Given the description of an element on the screen output the (x, y) to click on. 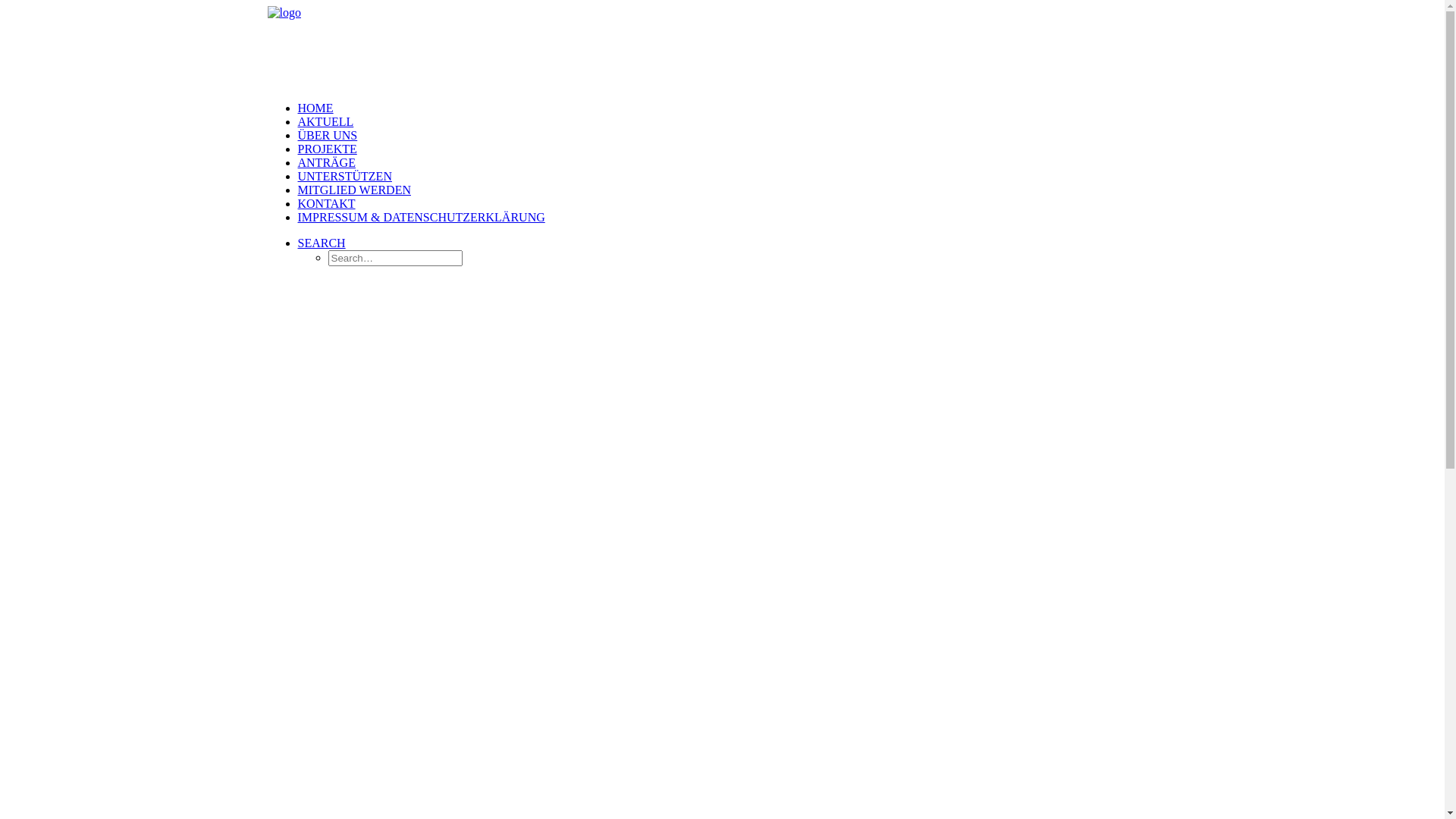
HOME Element type: text (314, 107)
PROJEKTE Element type: text (326, 148)
MITGLIED WERDEN Element type: text (353, 189)
SEARCH Element type: text (321, 242)
AKTUELL Element type: text (325, 121)
KONTAKT Element type: text (325, 203)
